Given the description of an element on the screen output the (x, y) to click on. 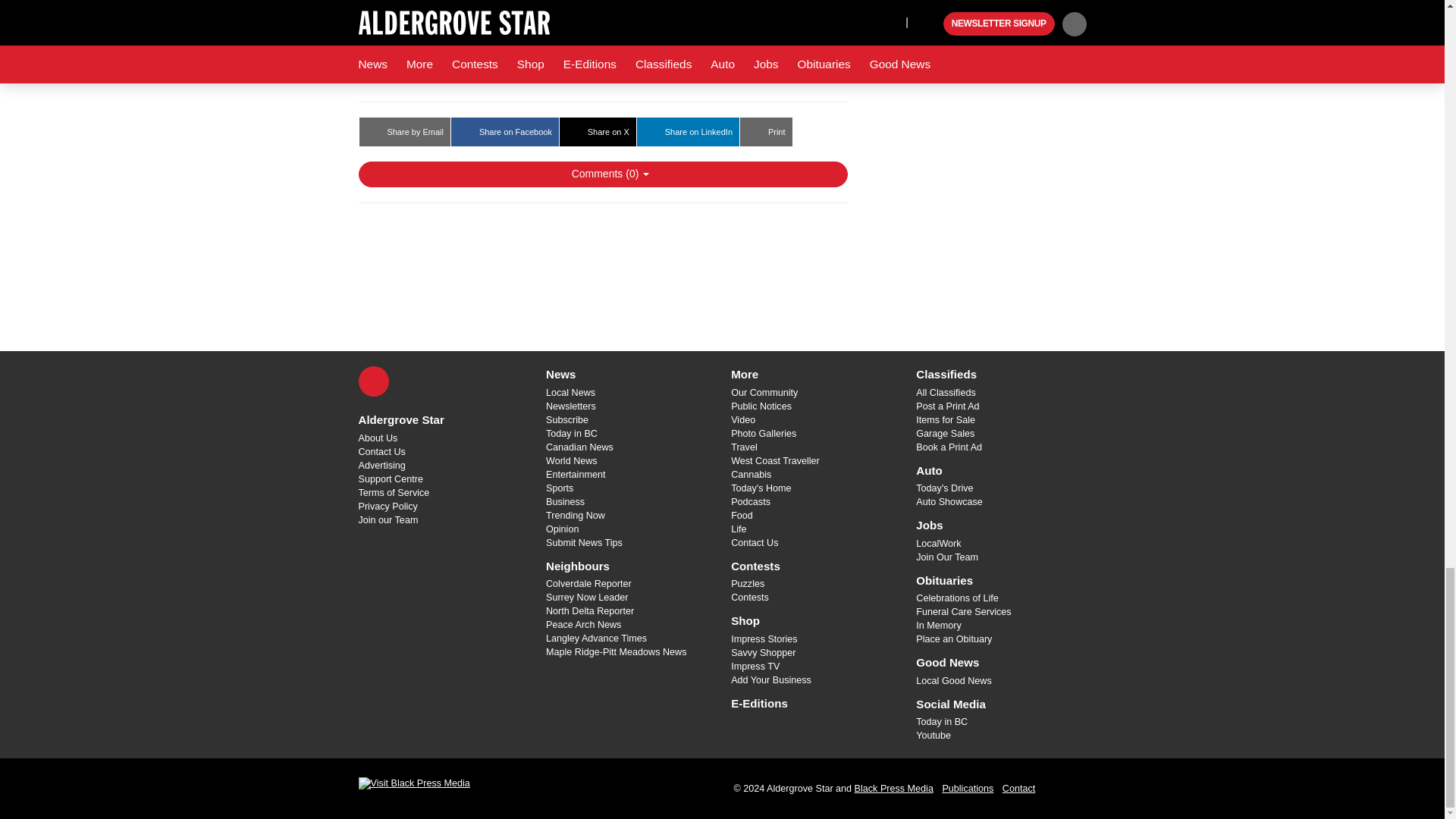
Show Comments (602, 174)
X (373, 381)
